Given the description of an element on the screen output the (x, y) to click on. 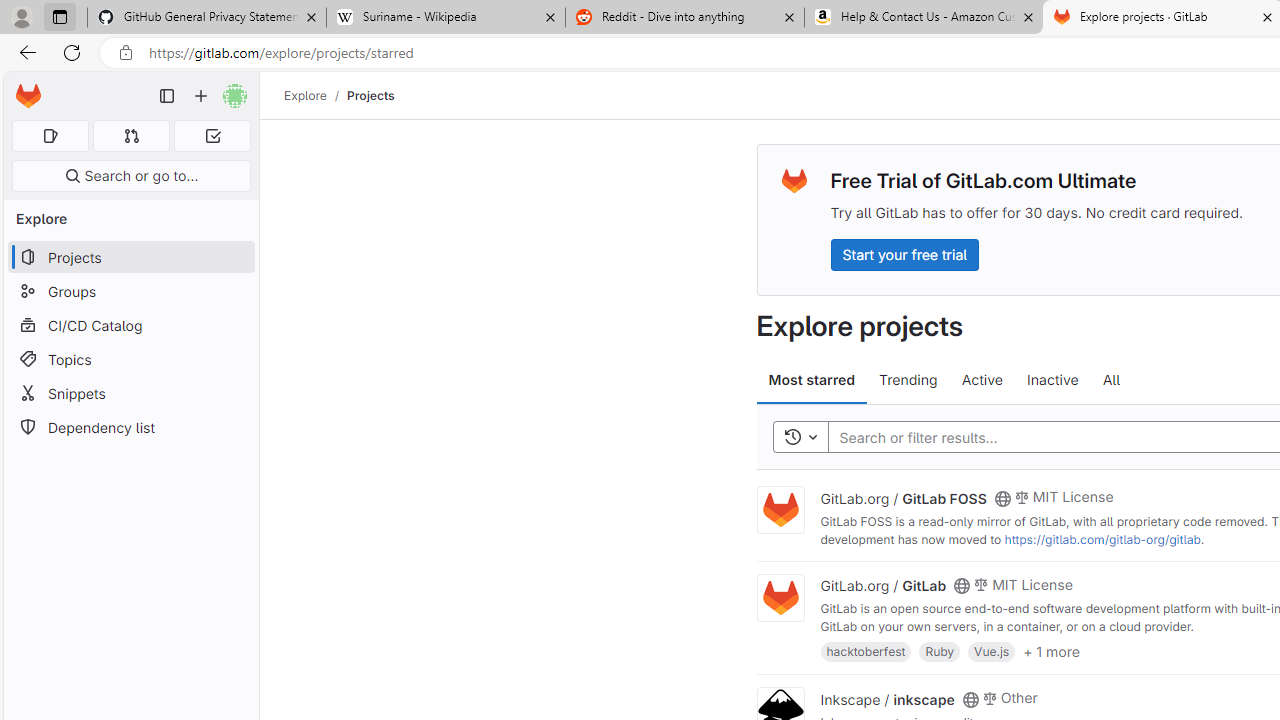
Dependency list (130, 427)
Skip to main content (23, 87)
Create new... (201, 96)
Topics (130, 358)
GitLab.org / GitLab FOSS (903, 497)
Inkscape / inkscape (887, 698)
CI/CD Catalog (130, 325)
+ 1 more (1051, 650)
GitLab.org / GitLab (883, 585)
All (1111, 379)
Inactive (1052, 379)
Explore/ (316, 95)
Explore (305, 95)
